Given the description of an element on the screen output the (x, y) to click on. 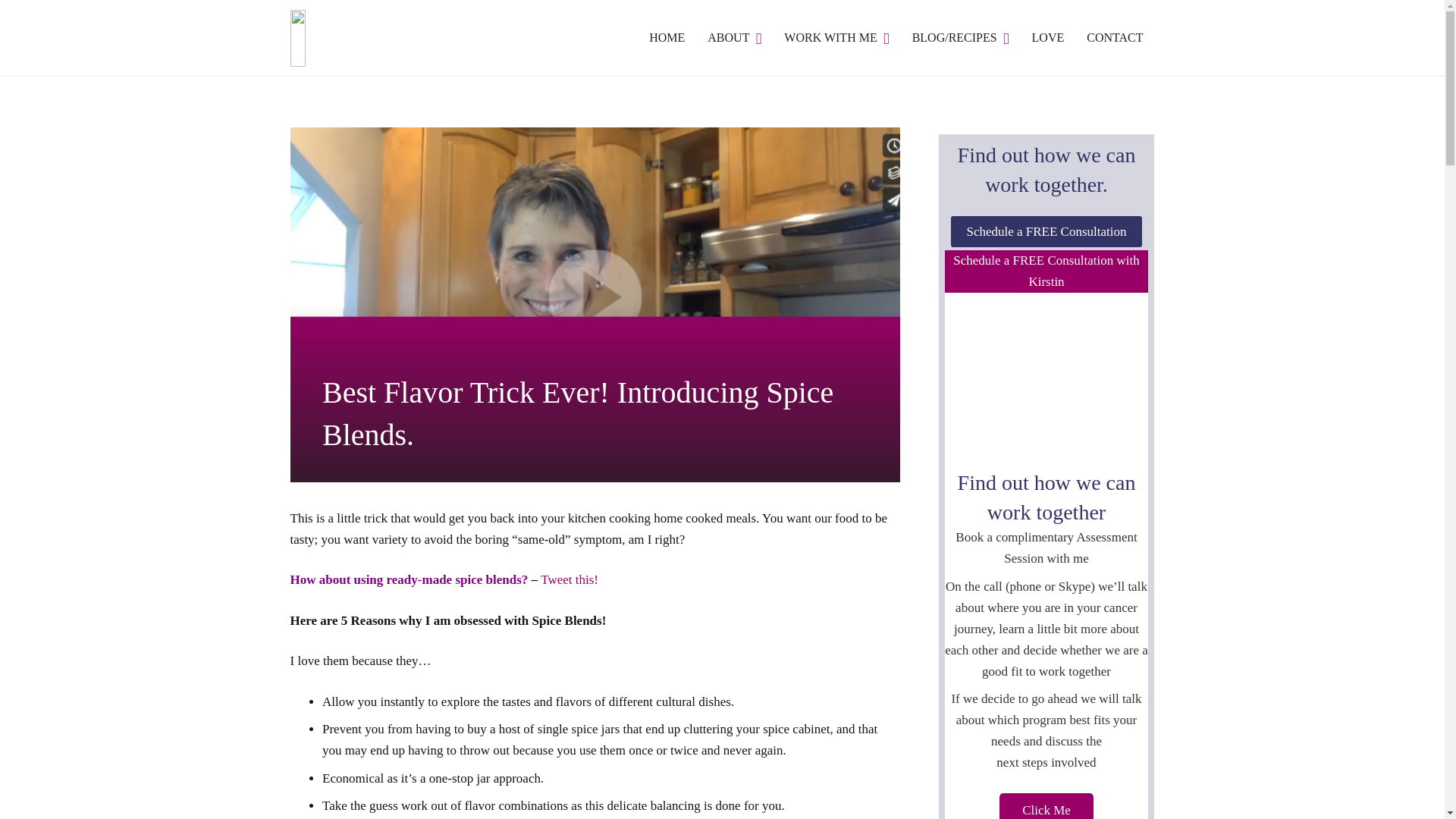
HOME (666, 37)
ABOUT (734, 37)
WORK WITH ME (836, 37)
Tweet this! (569, 579)
LOVE (1047, 37)
CONTACT (1114, 37)
